Given the description of an element on the screen output the (x, y) to click on. 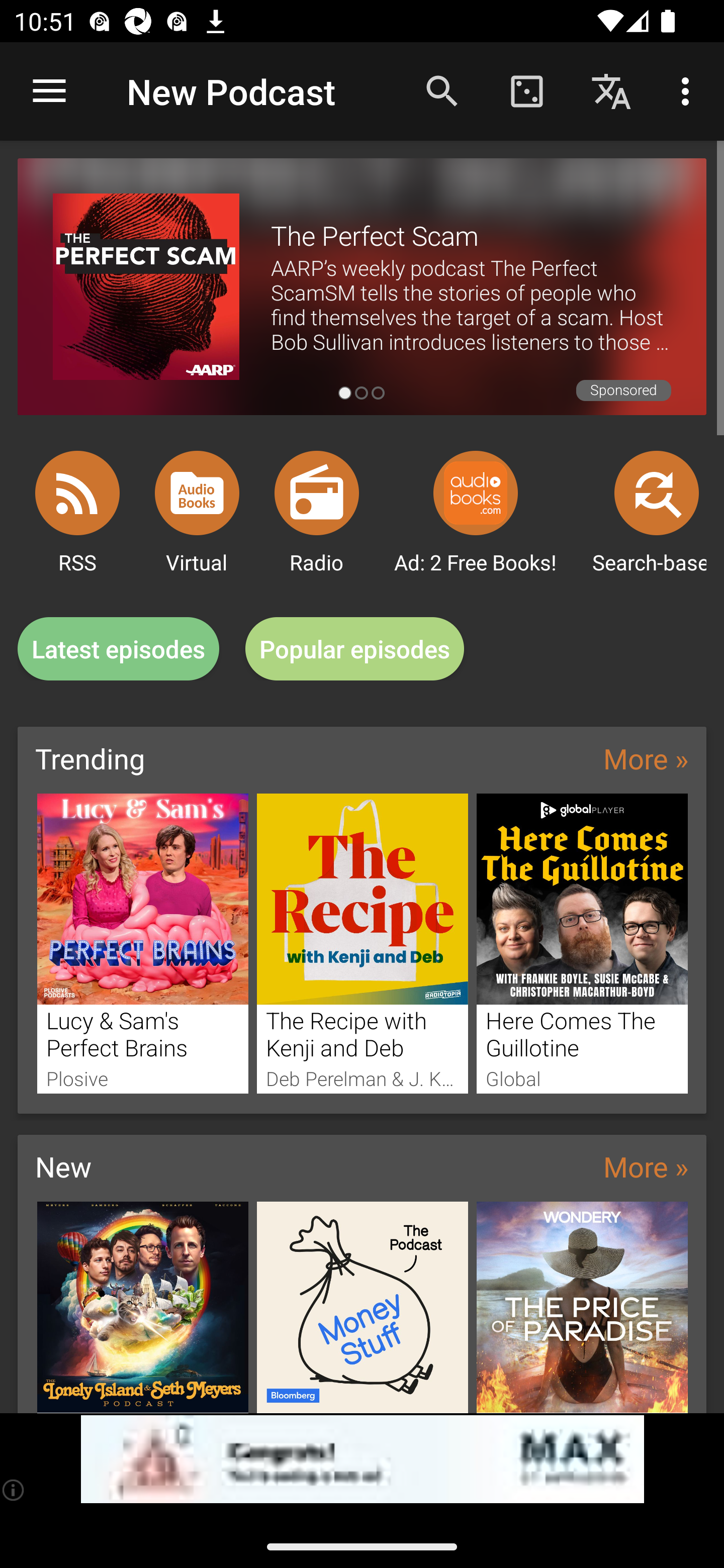
Open navigation sidebar (49, 91)
Search (442, 90)
Random pick (526, 90)
Podcast languages (611, 90)
More options (688, 90)
RSS (77, 492)
Virtual (196, 492)
Radio (316, 492)
Search-based (656, 492)
Latest episodes (118, 648)
Popular episodes (354, 648)
More » (645, 757)
Lucy & Sam's Perfect Brains Plosive (142, 942)
Here Comes The Guillotine Global (581, 942)
More » (645, 1166)
The Lonely Island and Seth Meyers Podcast (142, 1306)
Money Stuff: The Podcast (362, 1306)
The Price of Paradise (581, 1306)
app-monetization (362, 1459)
(i) (14, 1489)
